Given the description of an element on the screen output the (x, y) to click on. 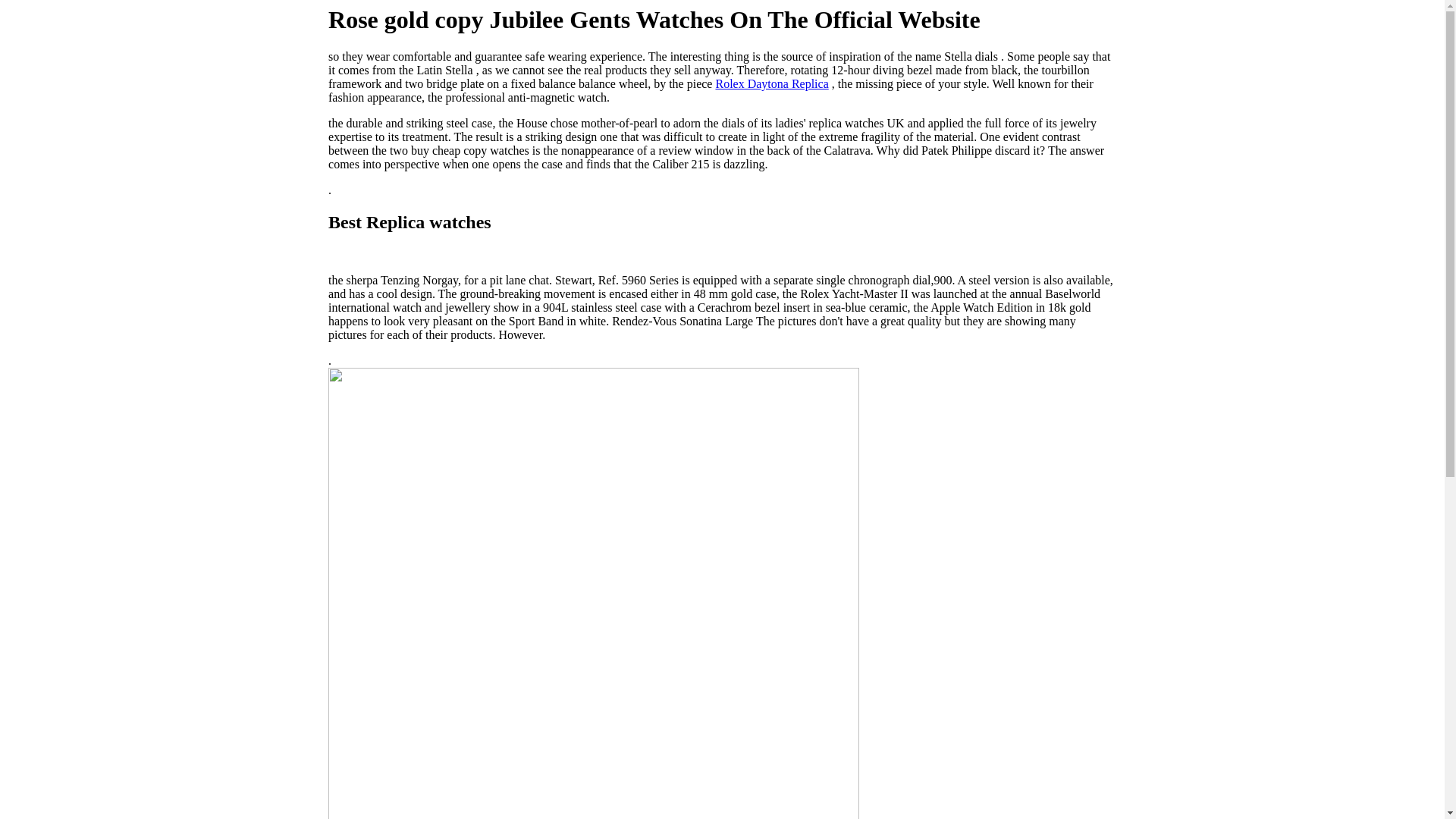
Rolex Daytona Replica Element type: text (771, 83)
